Given the description of an element on the screen output the (x, y) to click on. 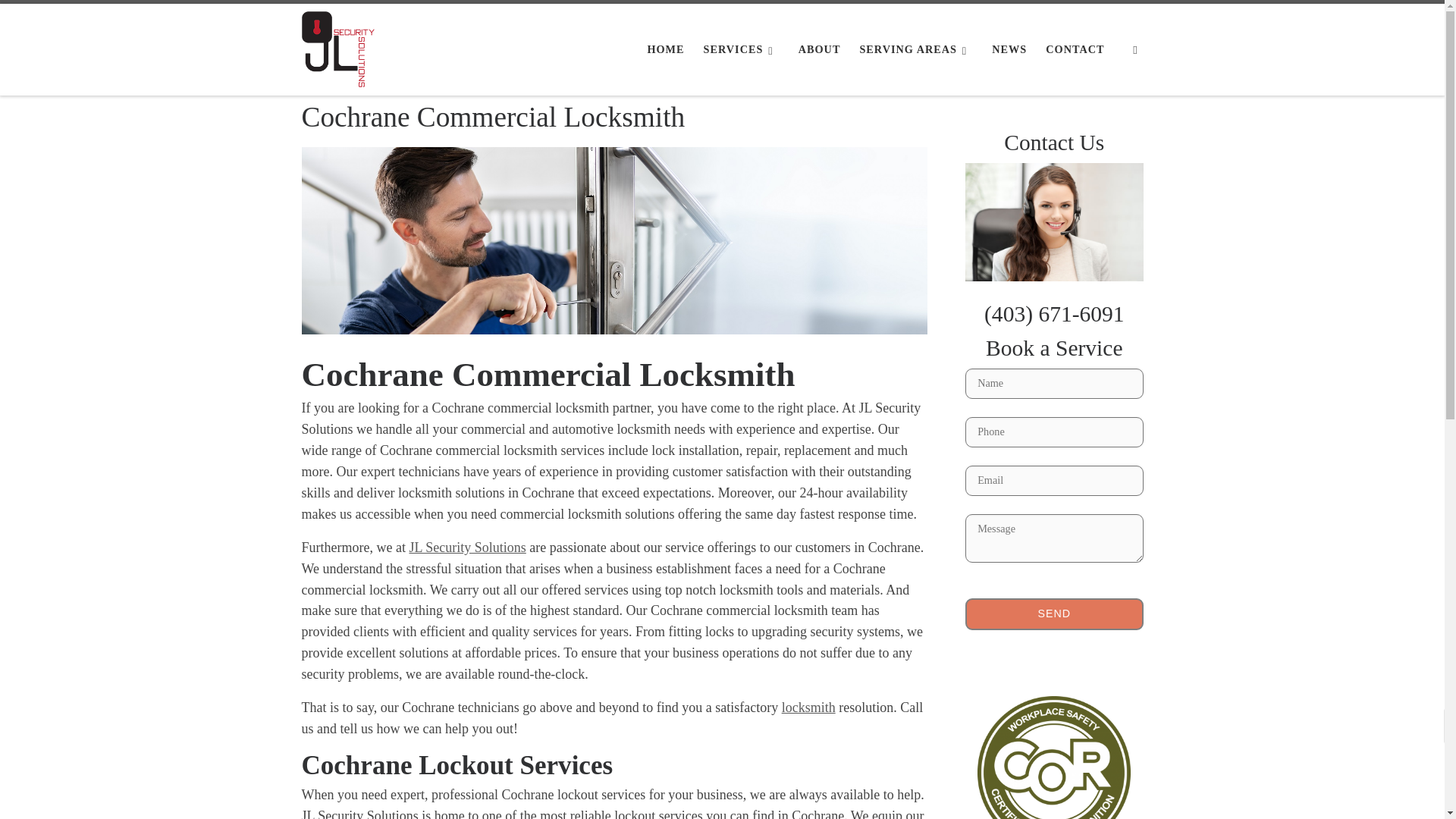
SERVICES (741, 49)
Send (1053, 613)
CONTACT (1075, 49)
Skip to content (57, 20)
NEWS (1008, 49)
SERVING AREAS (915, 49)
ABOUT (818, 49)
HOME (665, 49)
